Given the description of an element on the screen output the (x, y) to click on. 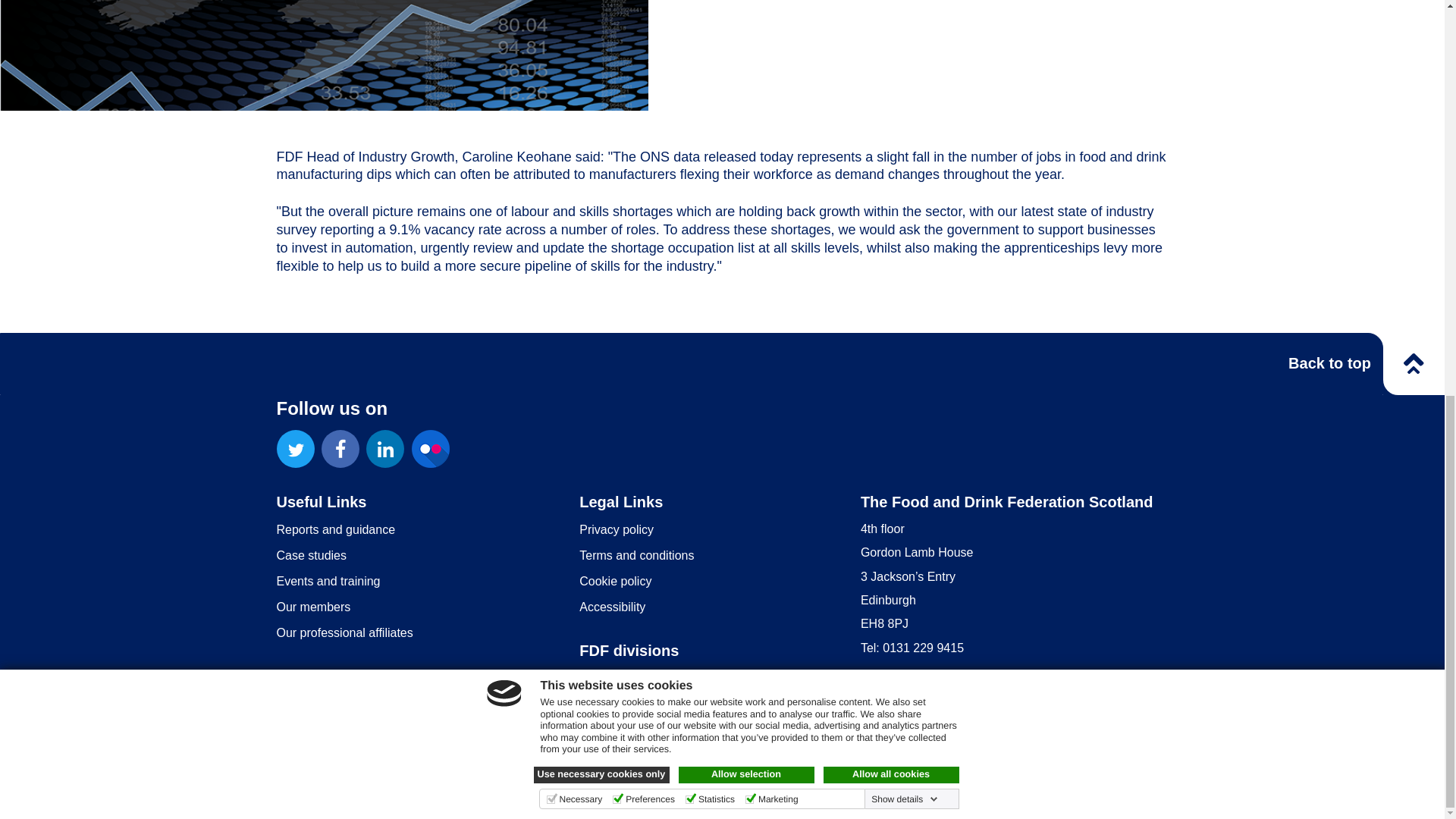
Allow selection (745, 9)
Allow all cookies (891, 9)
Show details (903, 33)
Back to top (1329, 362)
Use necessary cookies only (601, 9)
